Given the description of an element on the screen output the (x, y) to click on. 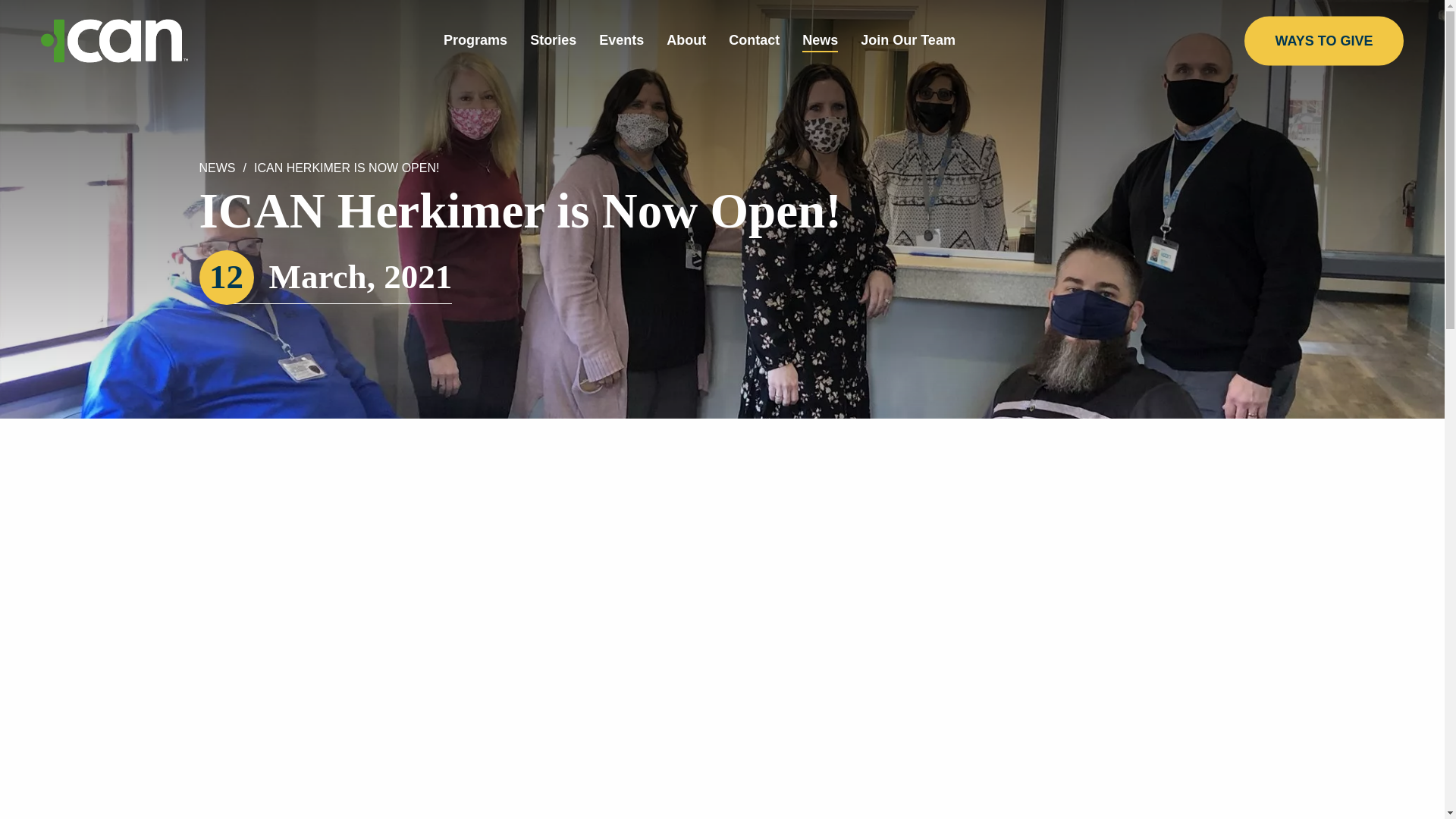
About (686, 40)
Join Our Team (907, 40)
Programs (475, 40)
Programs (475, 40)
Events (620, 40)
ICAN (113, 40)
Contact (753, 40)
Stories (552, 40)
News (820, 40)
Stories (552, 40)
